Given the description of an element on the screen output the (x, y) to click on. 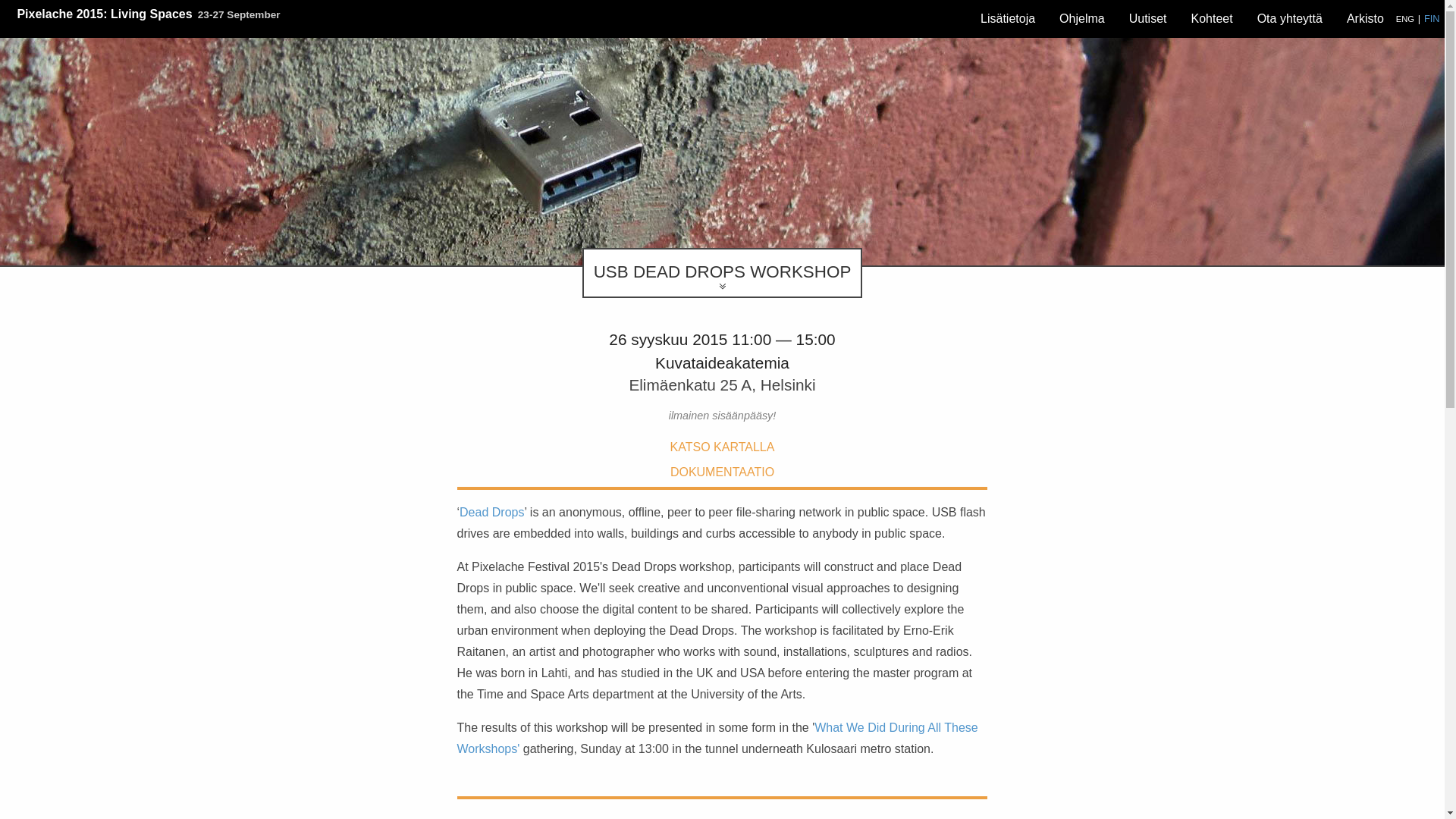
KATSO KARTALLA (721, 446)
Pixelache 2015: Living Spaces (104, 14)
Arkisto (1365, 18)
Dead Drops (492, 512)
Kohteet (1210, 18)
DOKUMENTAATIO (721, 472)
Uutiset (1147, 18)
Ohjelma (1081, 18)
What We Did During All These Workshops'  (716, 738)
ENG (1404, 18)
